Given the description of an element on the screen output the (x, y) to click on. 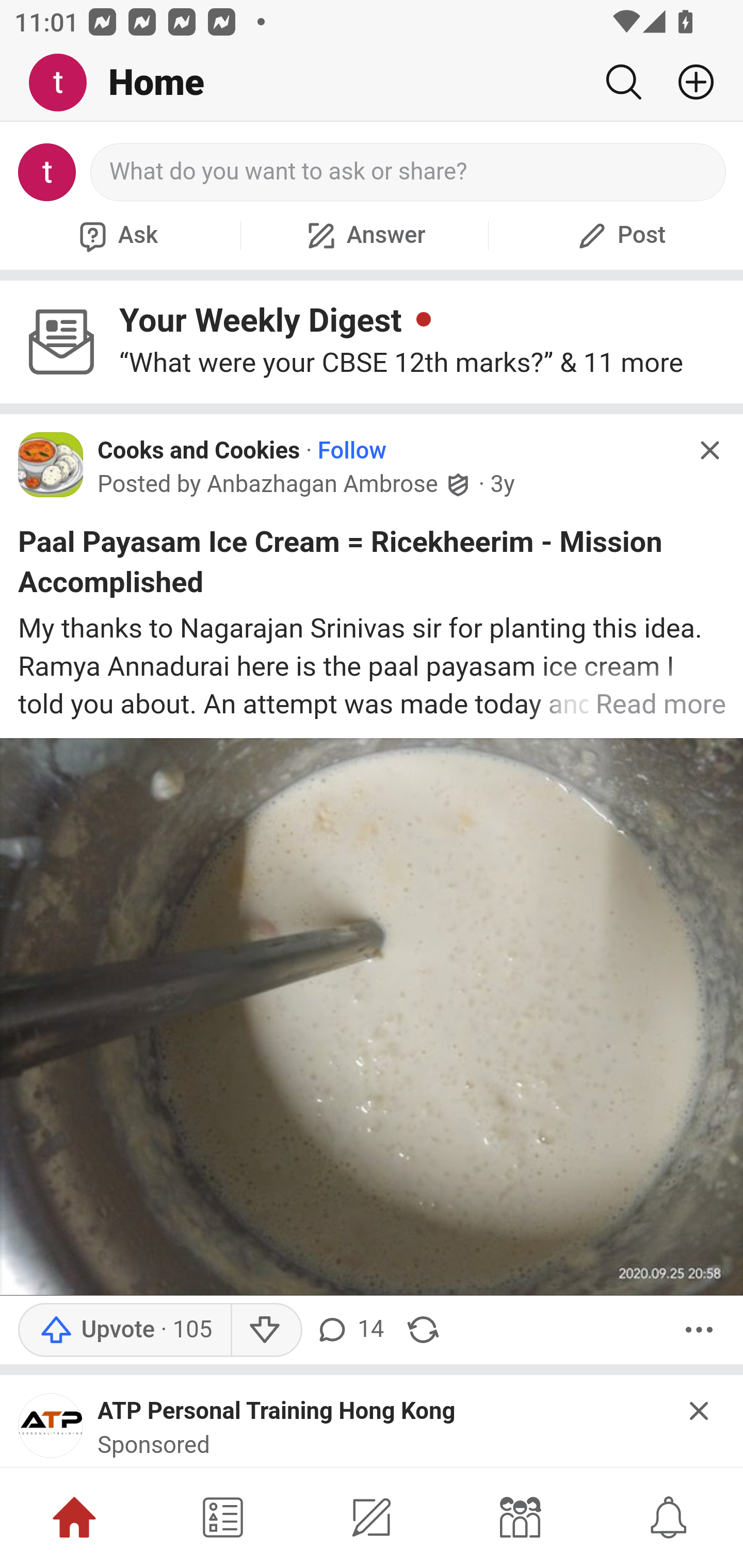
Me Home Search Add (371, 82)
Me (64, 83)
Search (623, 82)
Add (688, 82)
